Given the description of an element on the screen output the (x, y) to click on. 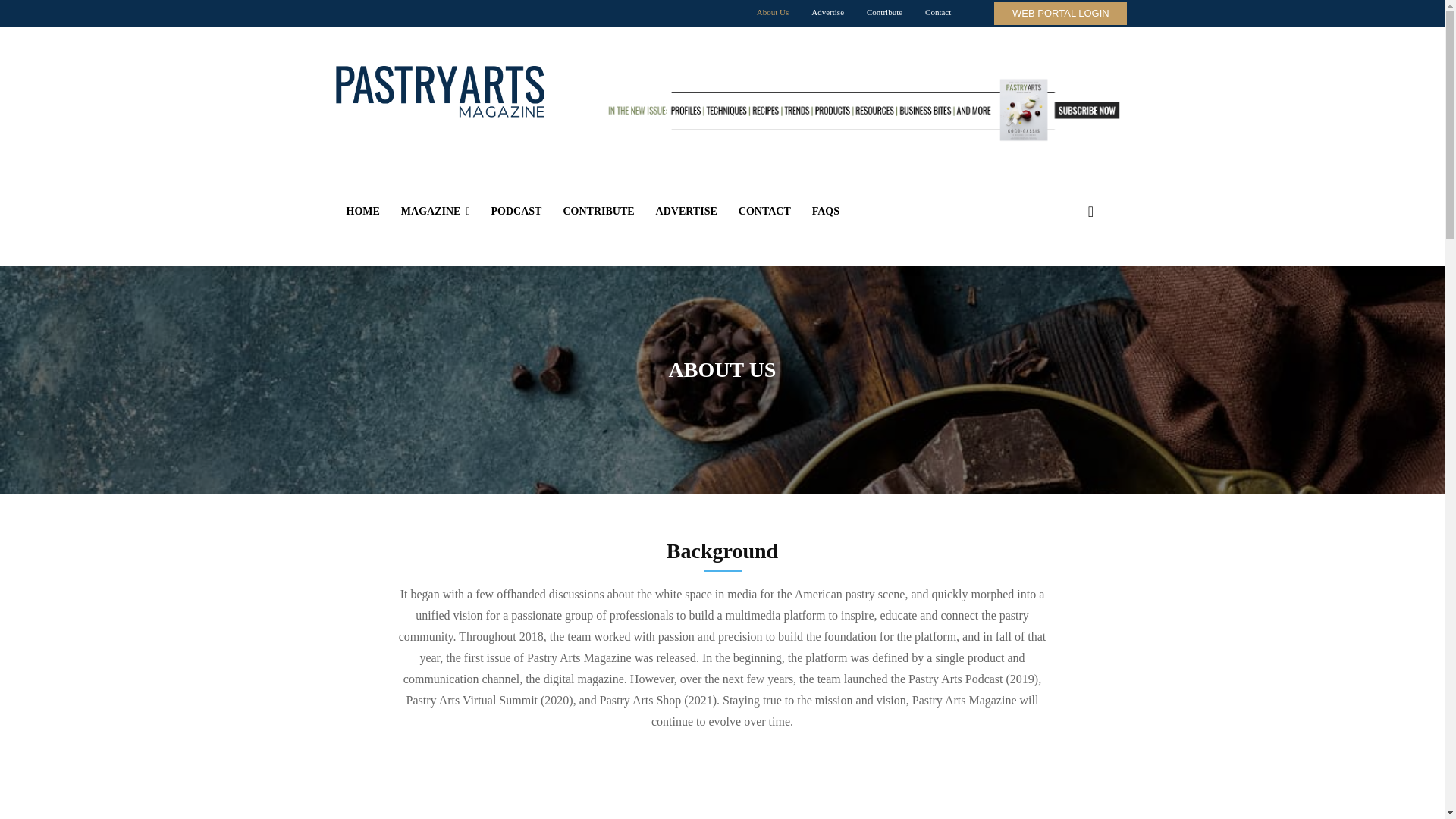
CONTRIBUTE (598, 211)
ADVERTISE (686, 211)
FAQS (826, 211)
HOME (362, 211)
Advertise (827, 12)
Contact (938, 12)
WEB PORTAL LOGIN (1060, 13)
MAGAZINE (435, 211)
Contribute (884, 12)
CONTACT (765, 211)
